Given the description of an element on the screen output the (x, y) to click on. 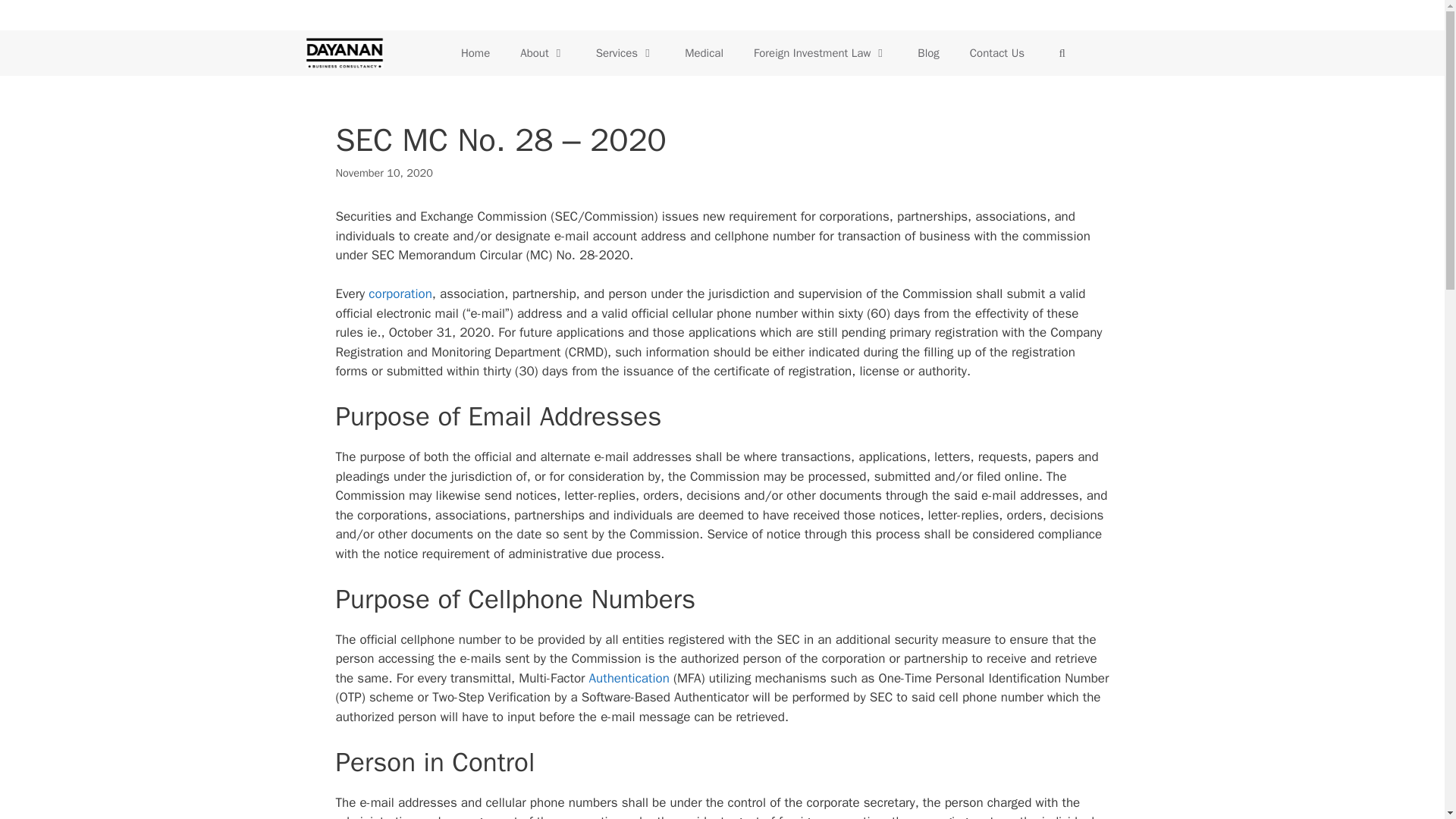
Authentication (629, 678)
Home (475, 53)
Medical (703, 53)
Contact Us (997, 53)
Dayanan Business Consultancy (343, 53)
Foreign Investment Law (820, 53)
Services (624, 53)
About (542, 53)
corporation (400, 293)
Blog (927, 53)
